Given the description of an element on the screen output the (x, y) to click on. 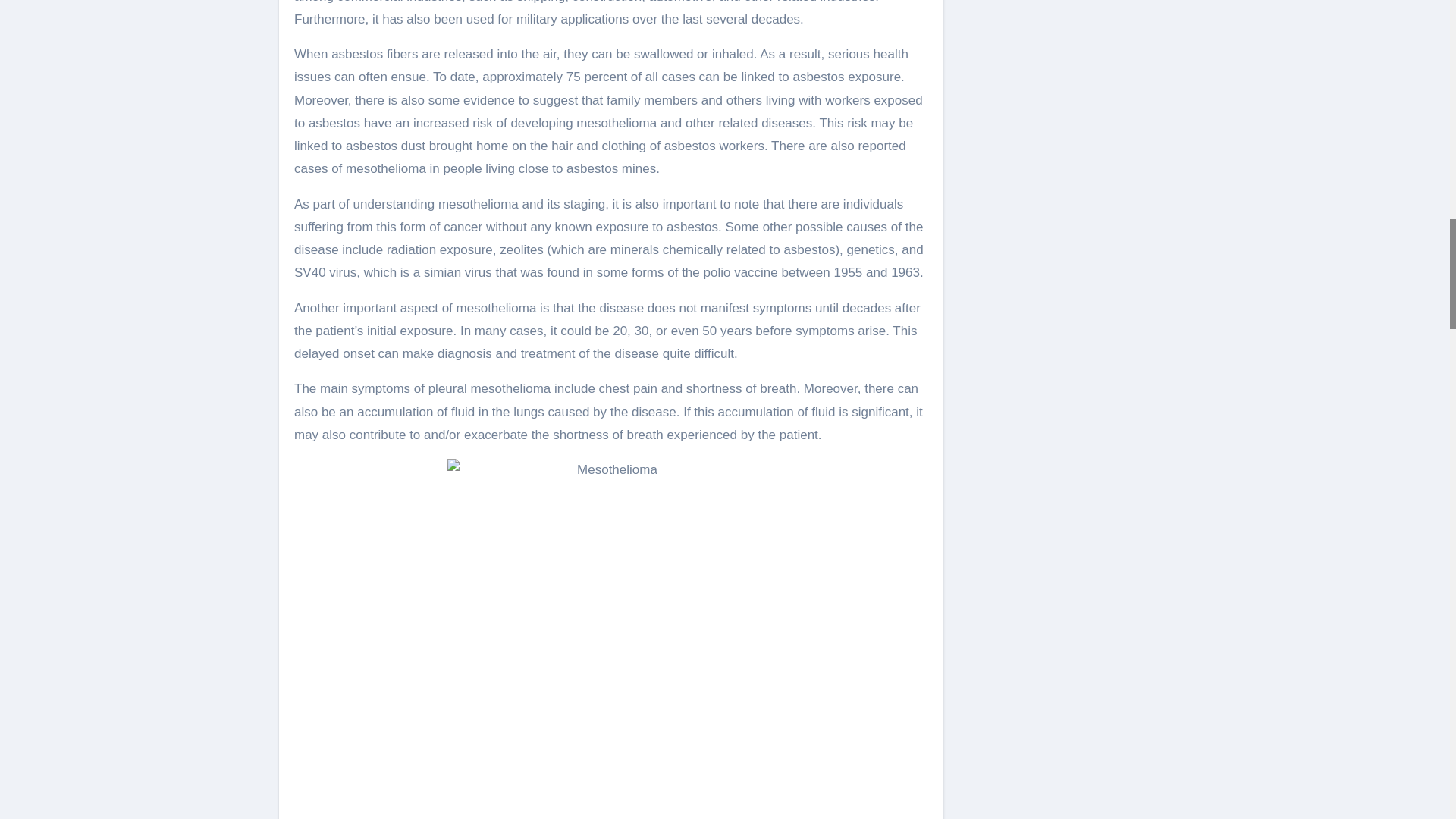
Understanding Mesothelioma and Its Staging (611, 629)
